Given the description of an element on the screen output the (x, y) to click on. 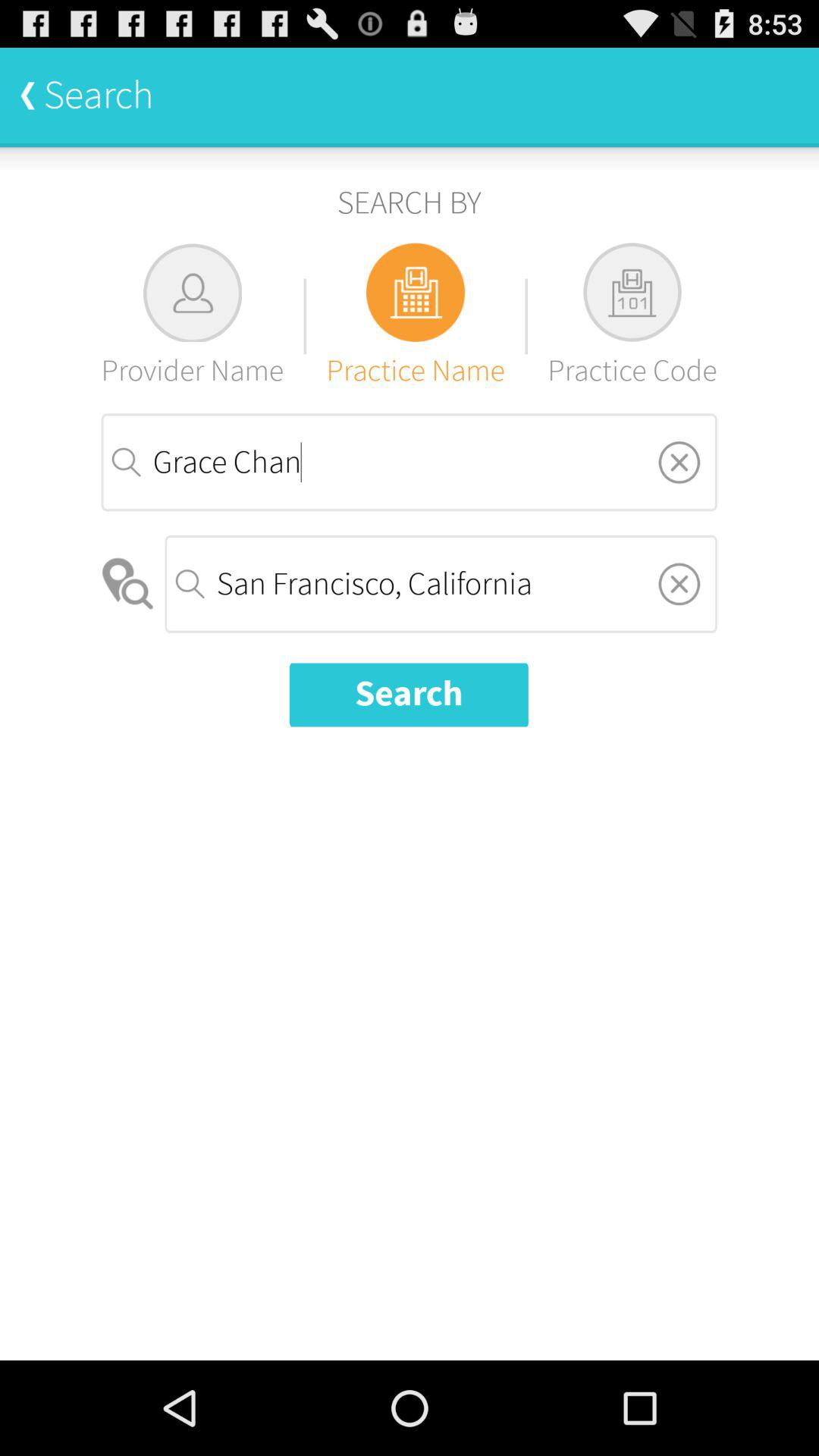
delete (679, 462)
